Given the description of an element on the screen output the (x, y) to click on. 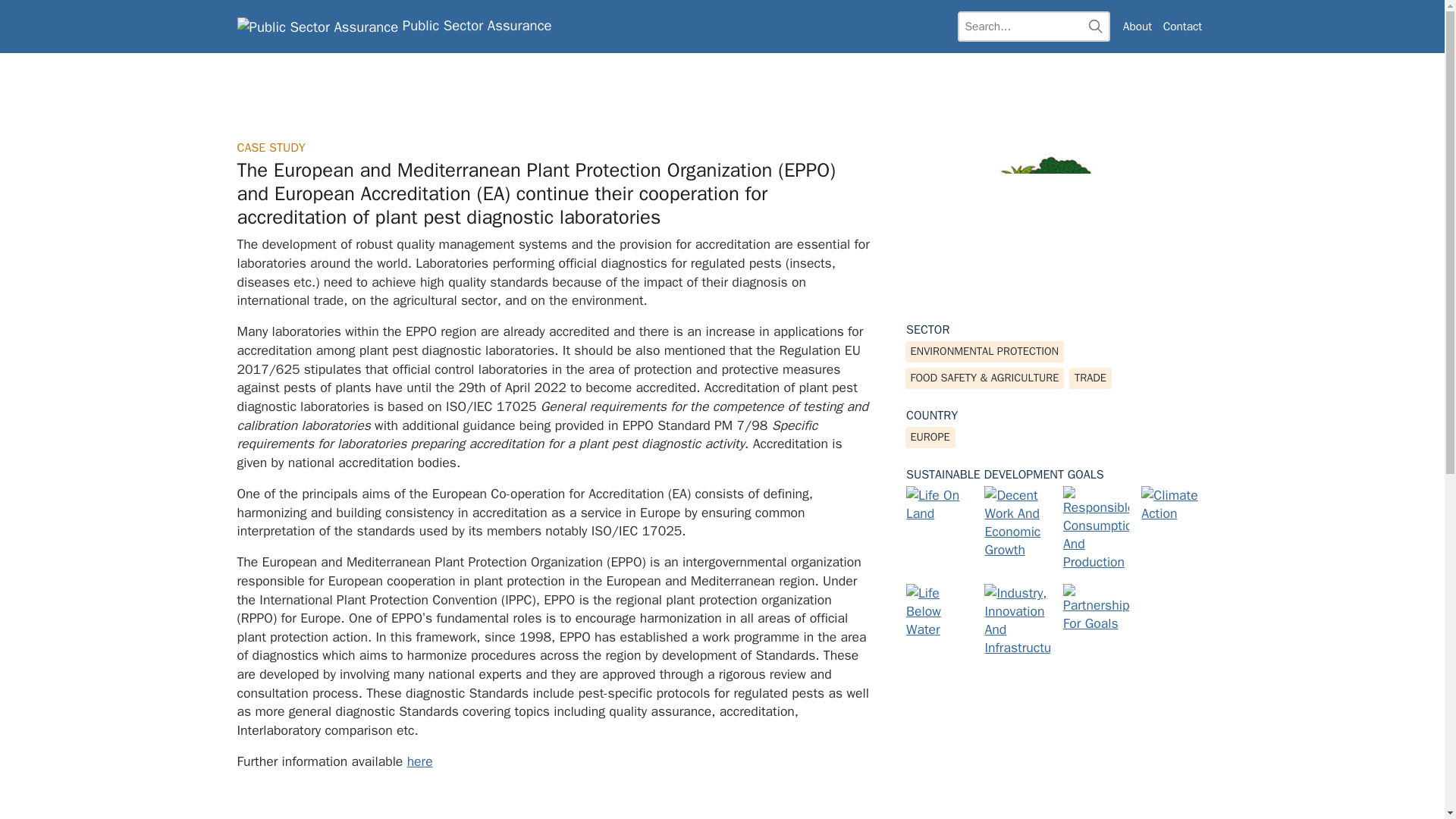
Contact (1182, 26)
Public Sector Assurance (393, 25)
here (419, 760)
EUROPE (930, 436)
TRADE (1090, 378)
ENVIRONMENTAL PROTECTION (984, 351)
About (1137, 26)
